Given the description of an element on the screen output the (x, y) to click on. 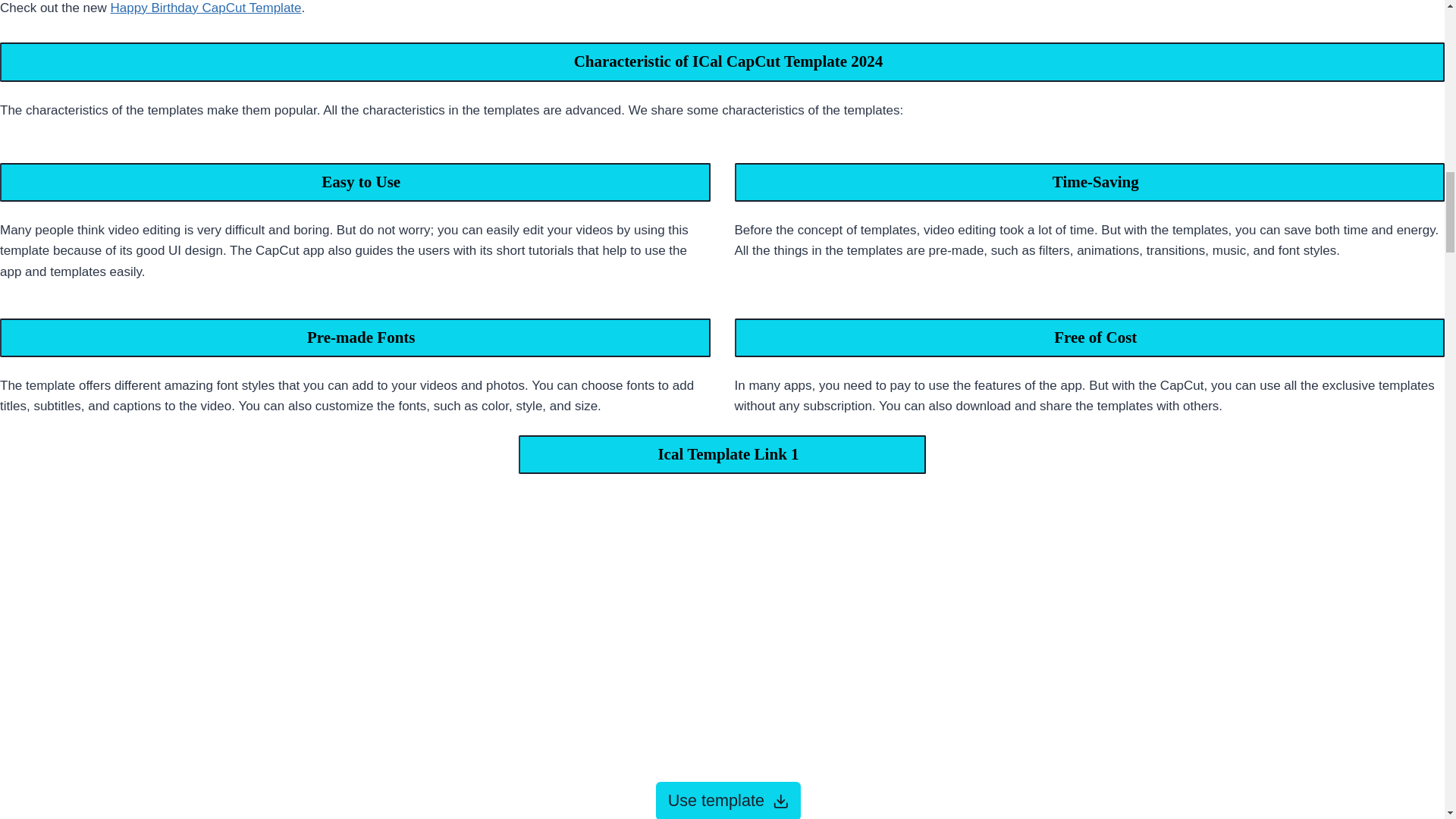
made the beautiful video with ical CapCut template (722, 624)
